Given the description of an element on the screen output the (x, y) to click on. 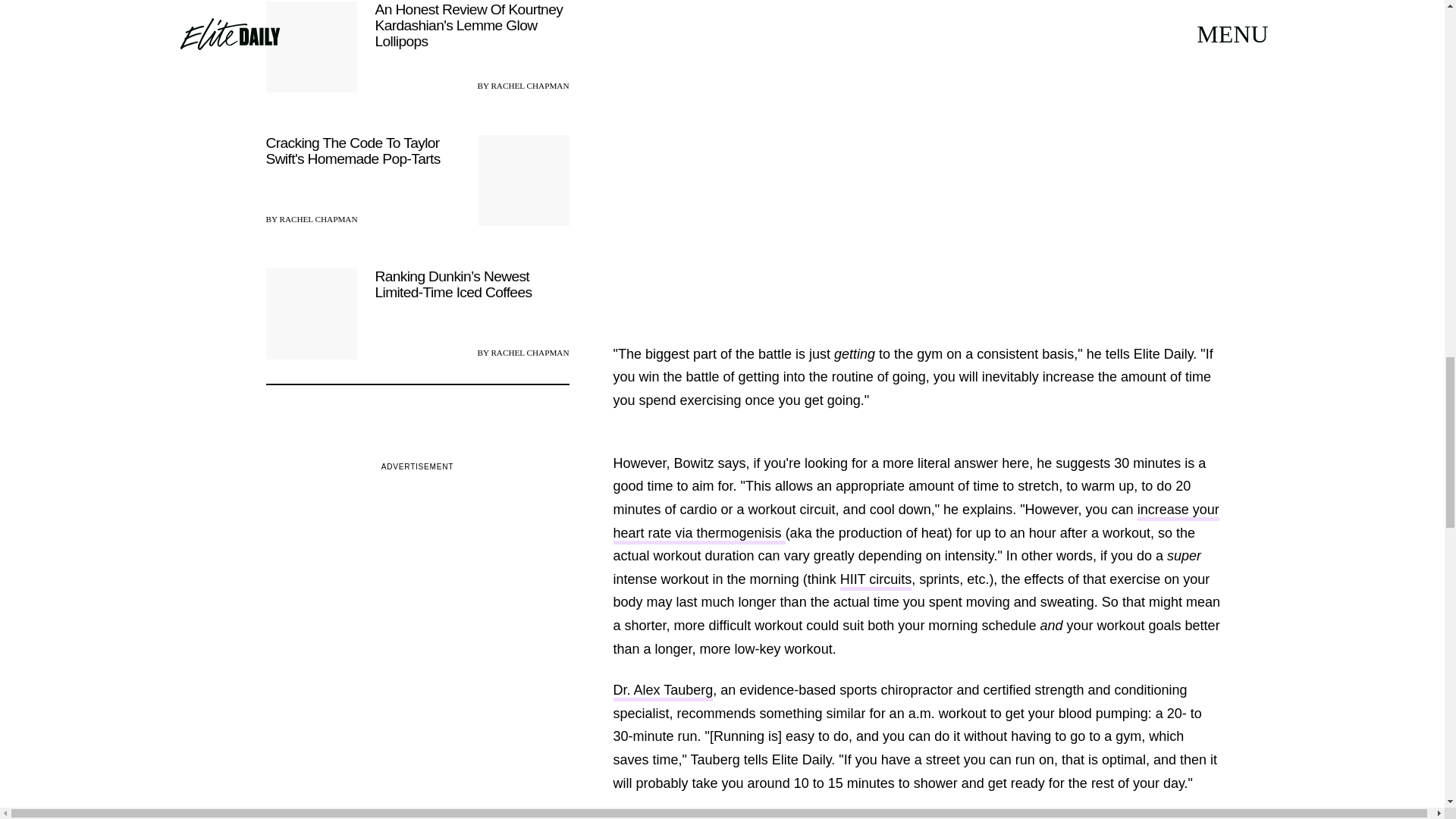
HIIT circuits (876, 580)
Dr. Alex Tauberg (662, 691)
increase your heart rate via thermogenisis (915, 523)
